Given the description of an element on the screen output the (x, y) to click on. 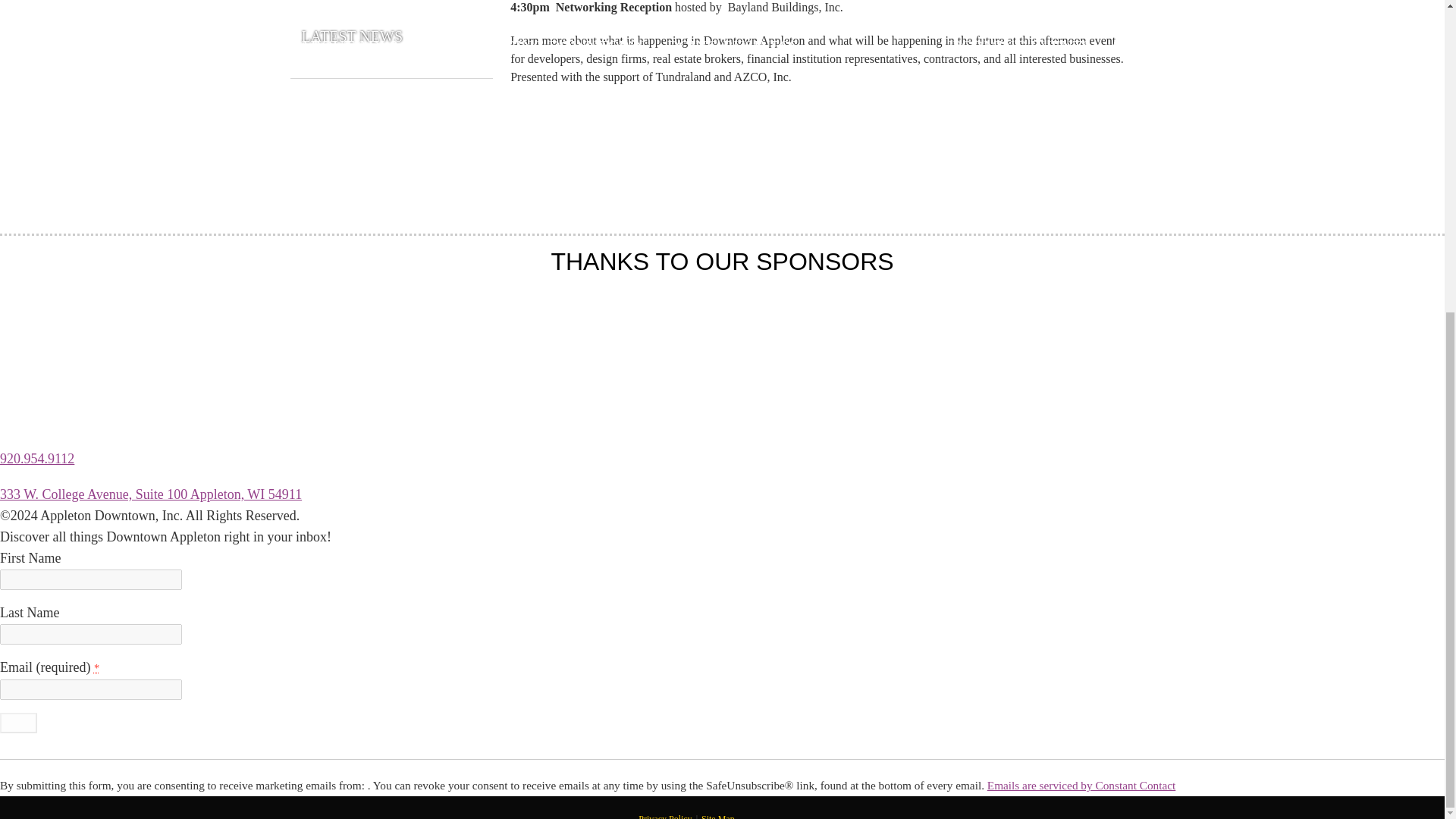
GO! (18, 722)
